Given the description of an element on the screen output the (x, y) to click on. 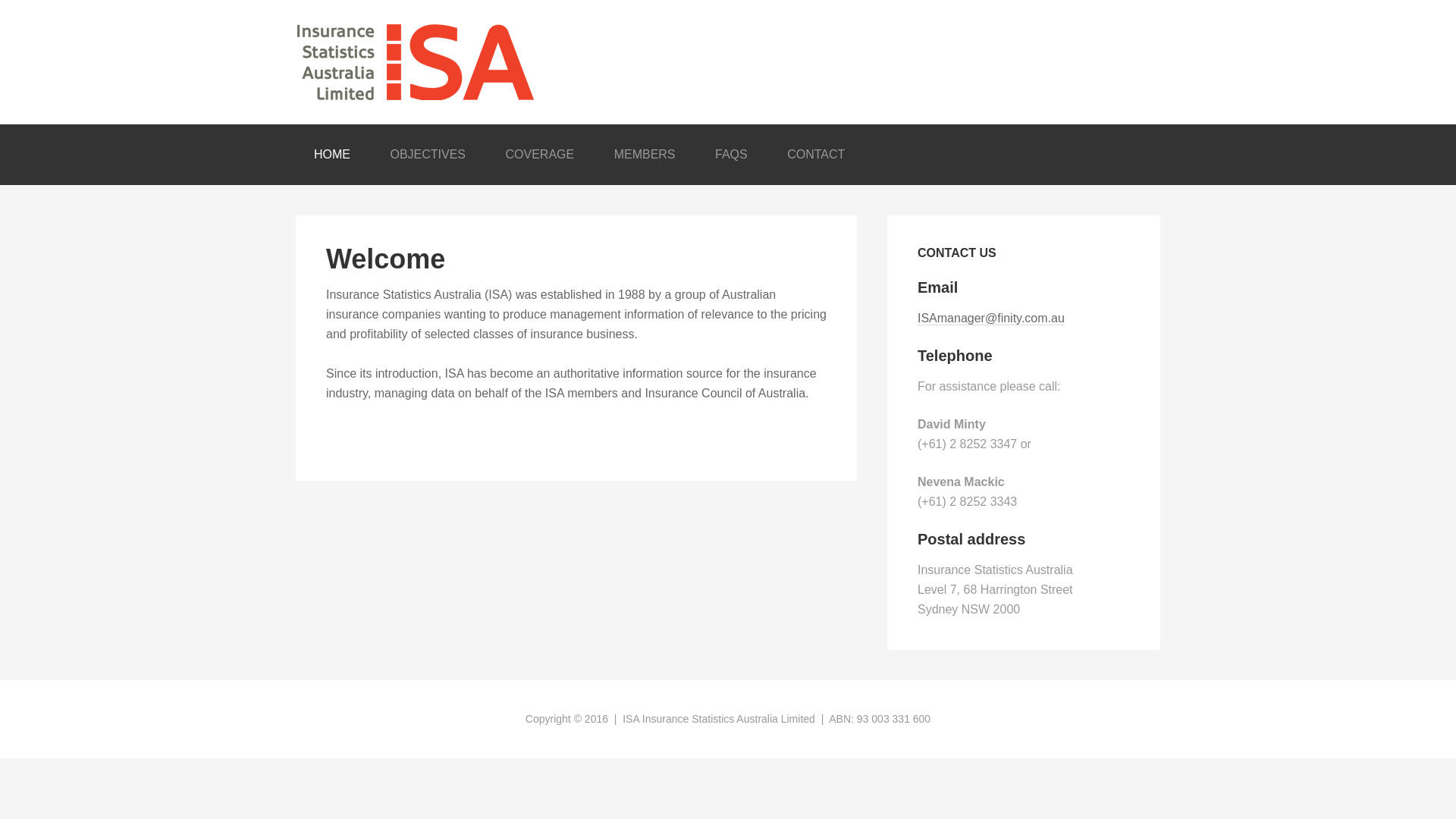
CONTACT Element type: text (815, 154)
FAQS Element type: text (730, 154)
MEMBERS Element type: text (644, 154)
HOME Element type: text (331, 154)
COVERAGE Element type: text (539, 154)
OBJECTIVES Element type: text (427, 154)
INSURANCE STATISTICS AUSTRALIA Element type: text (727, 62)
ISAmanager@finity.com.au Element type: text (990, 318)
